Given the description of an element on the screen output the (x, y) to click on. 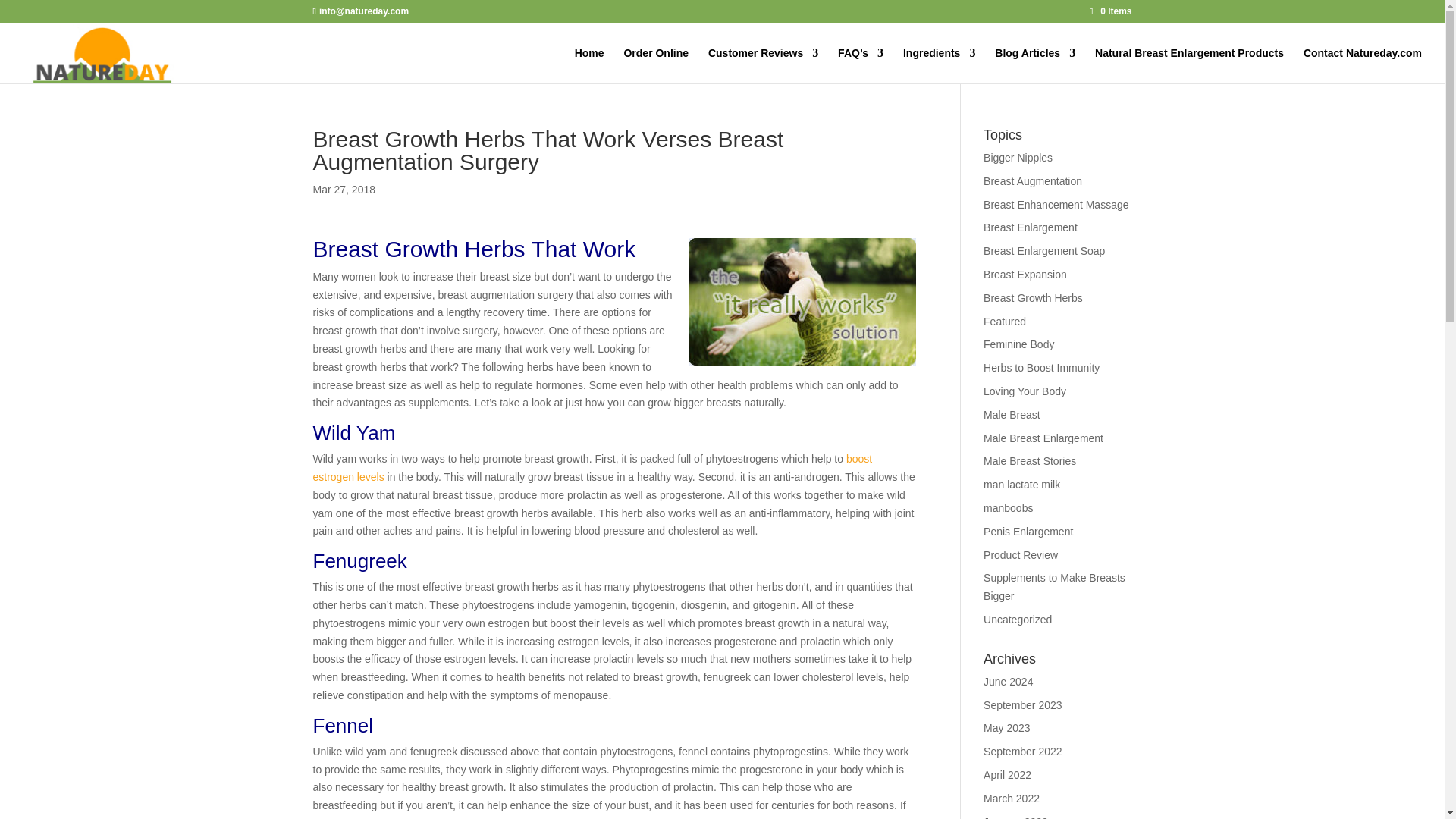
0 Items (1110, 10)
Customer Reviews (762, 65)
Ingredients (938, 65)
Order Online (655, 65)
Blog Articles (1034, 65)
